Given the description of an element on the screen output the (x, y) to click on. 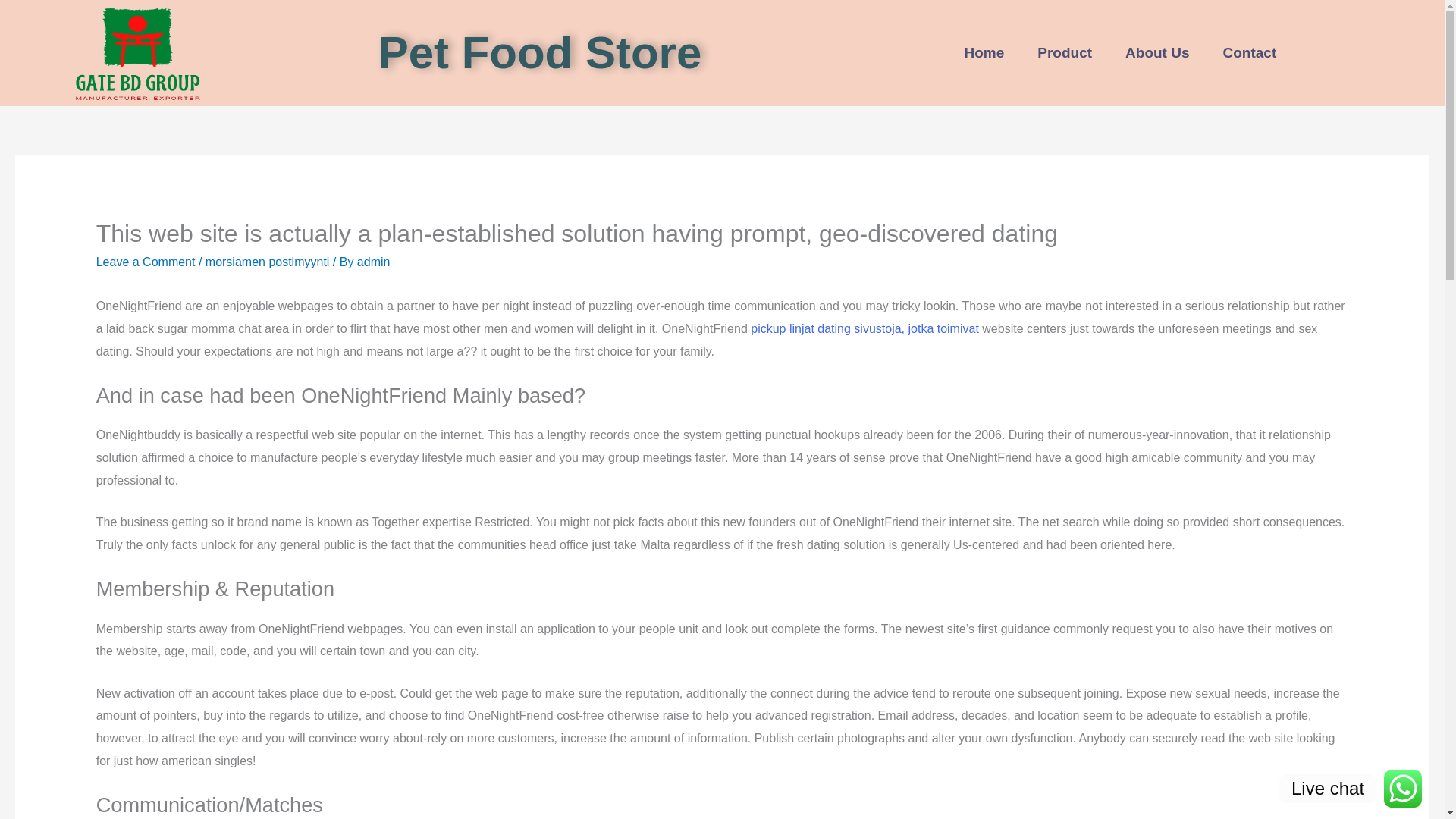
Product (1064, 53)
morsiamen postimyynti (267, 261)
Pet Food Store (539, 52)
pickup linjat dating sivustoja, jotka toimivat (864, 328)
Leave a Comment (145, 261)
Home (984, 53)
Contact (1250, 53)
View all posts by admin (373, 261)
About Us (1156, 53)
admin (373, 261)
